Given the description of an element on the screen output the (x, y) to click on. 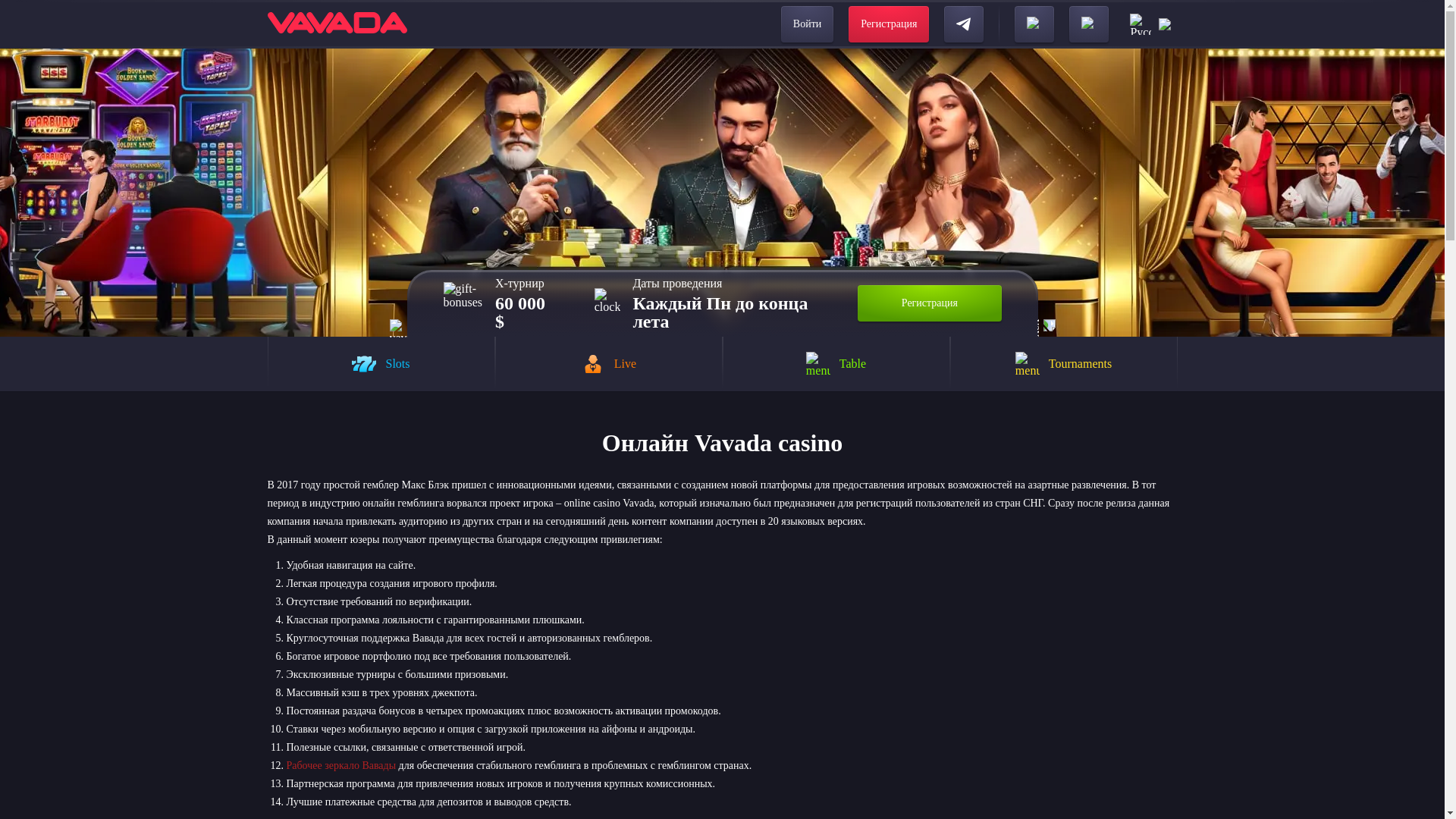
menu-item (363, 363)
google (1088, 23)
vavada mob version (398, 328)
app-store (1034, 23)
gift-bonuses (461, 302)
Slots (380, 363)
menu-item (1026, 363)
Table (835, 363)
telegram (963, 23)
Tournaments (1062, 363)
